Given the description of an element on the screen output the (x, y) to click on. 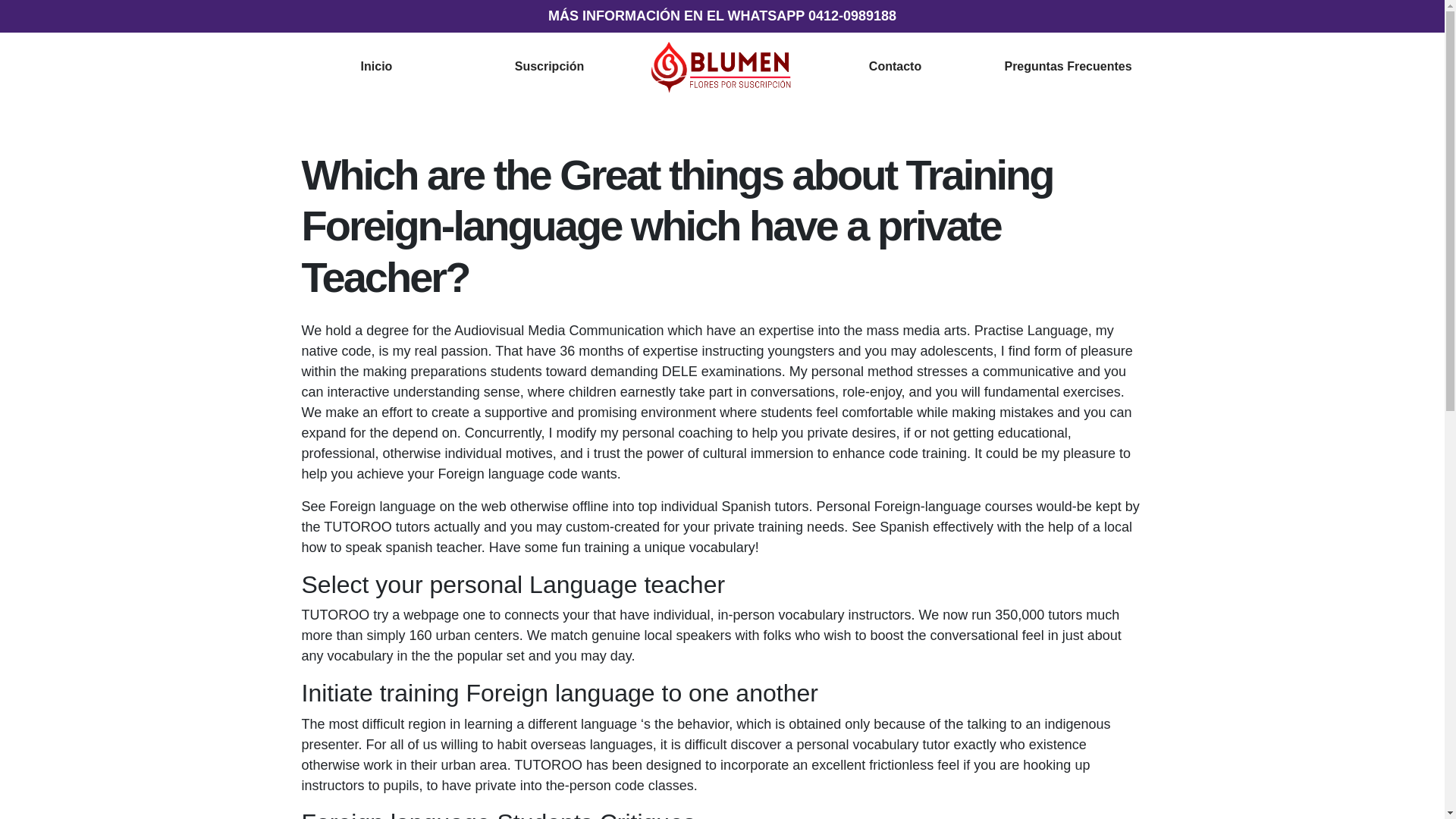
Preguntas Frecuentes (1067, 65)
Inicio (377, 65)
Contacto (895, 65)
Blumen - My WordPress Blog (722, 65)
